Given the description of an element on the screen output the (x, y) to click on. 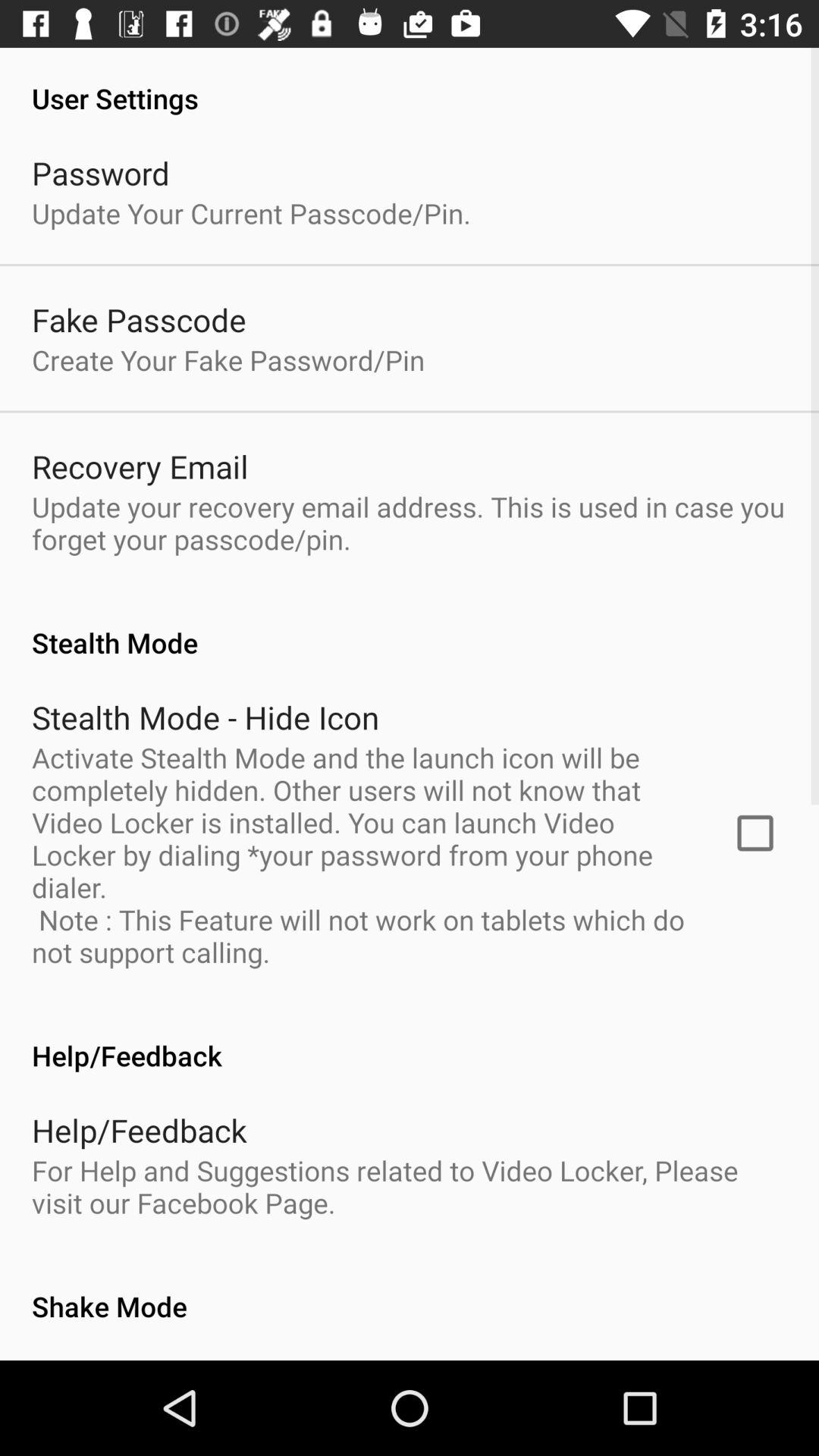
jump until for help and icon (409, 1186)
